Given the description of an element on the screen output the (x, y) to click on. 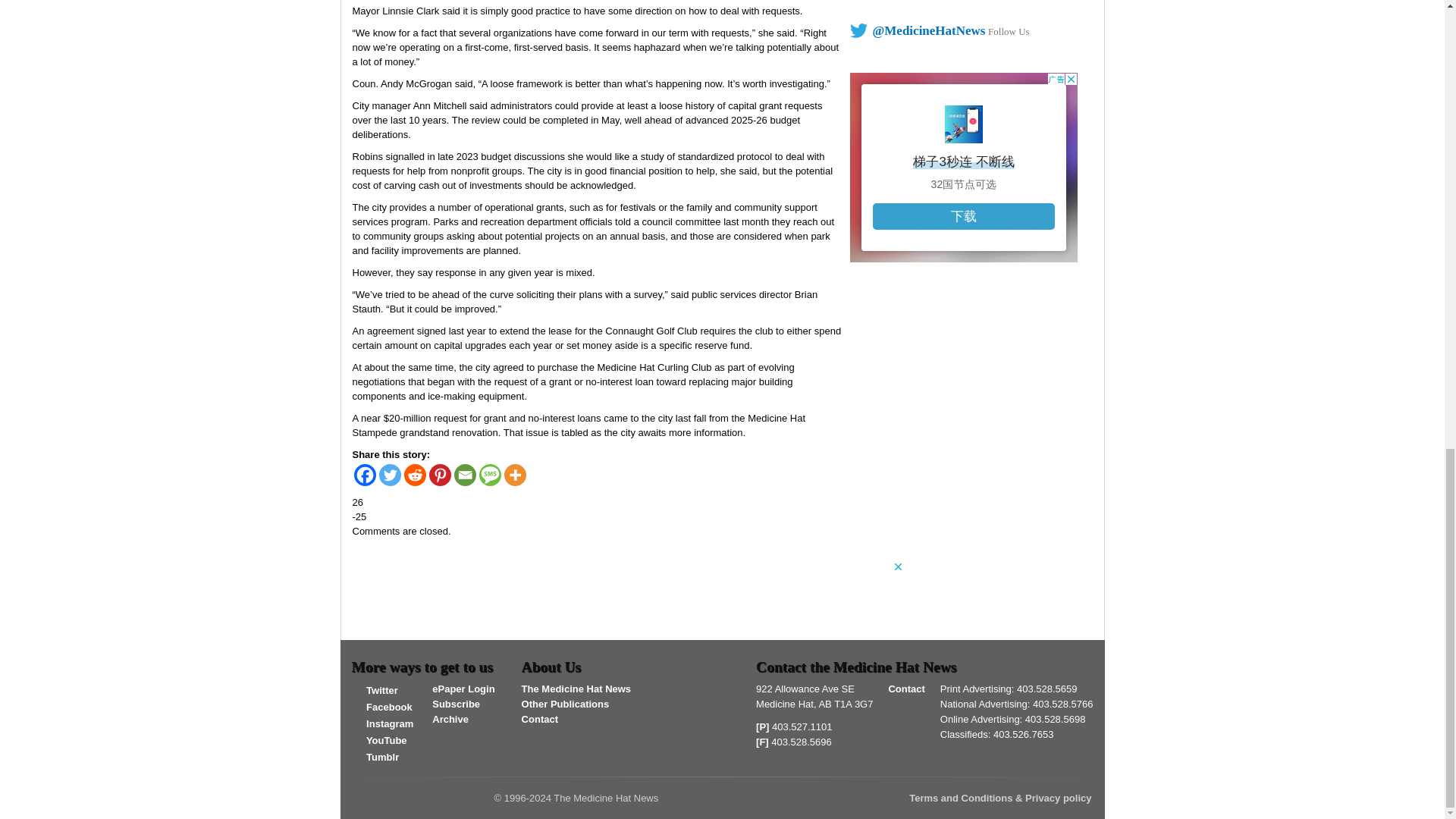
Pinterest (440, 475)
Email (464, 475)
Twitter (389, 475)
More (514, 475)
Reddit (414, 475)
SMS (489, 475)
3rd party ad content (962, 167)
3rd party ad content (962, 4)
Facebook (364, 475)
3rd party ad content (628, 594)
